Given the description of an element on the screen output the (x, y) to click on. 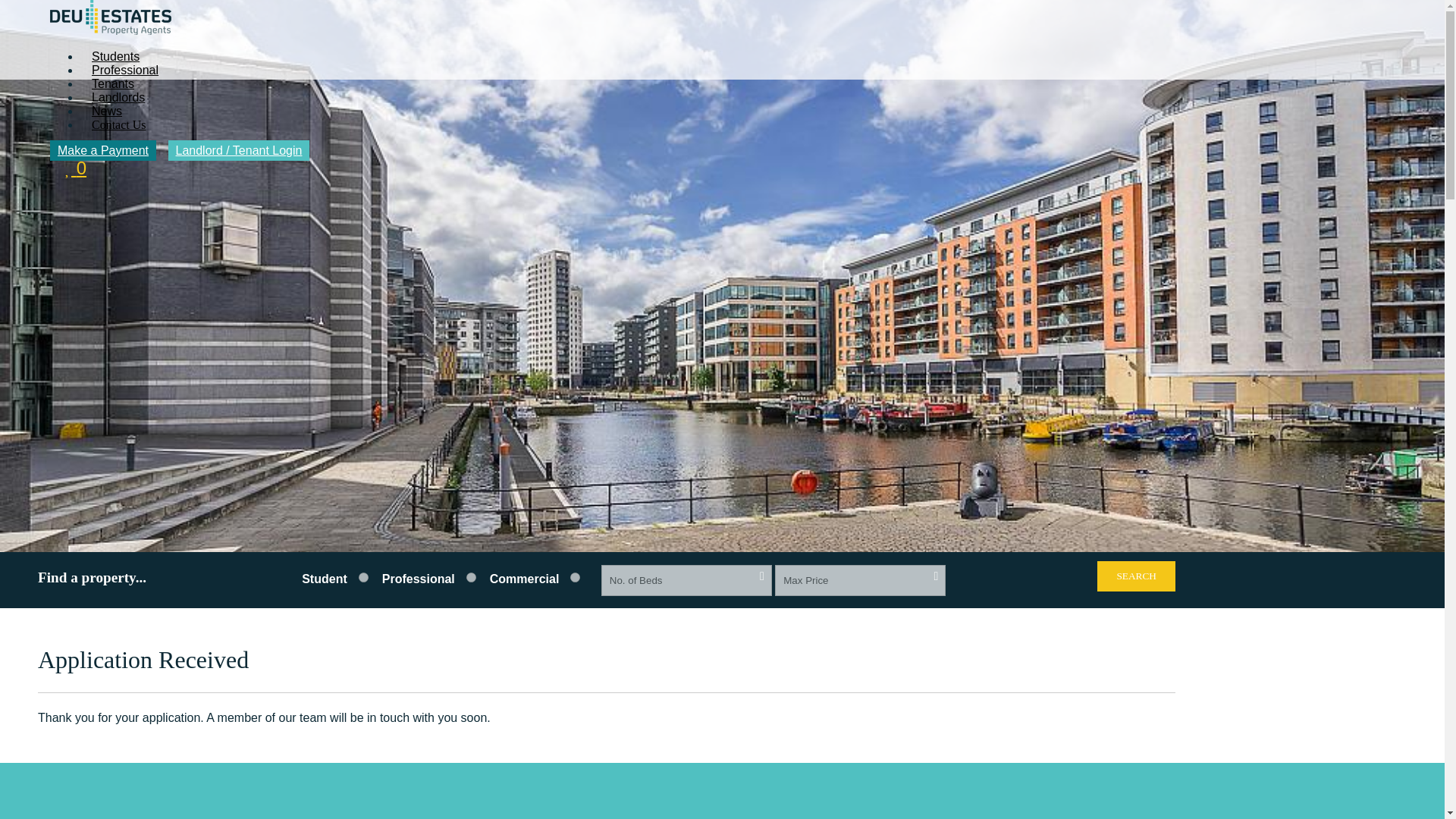
Landlords (117, 97)
News (106, 110)
Search (1135, 576)
Search (1135, 576)
Student (470, 576)
Students (115, 56)
Professional (125, 69)
Commercial (574, 576)
Make a Payment (102, 150)
 0 (75, 168)
